Given the description of an element on the screen output the (x, y) to click on. 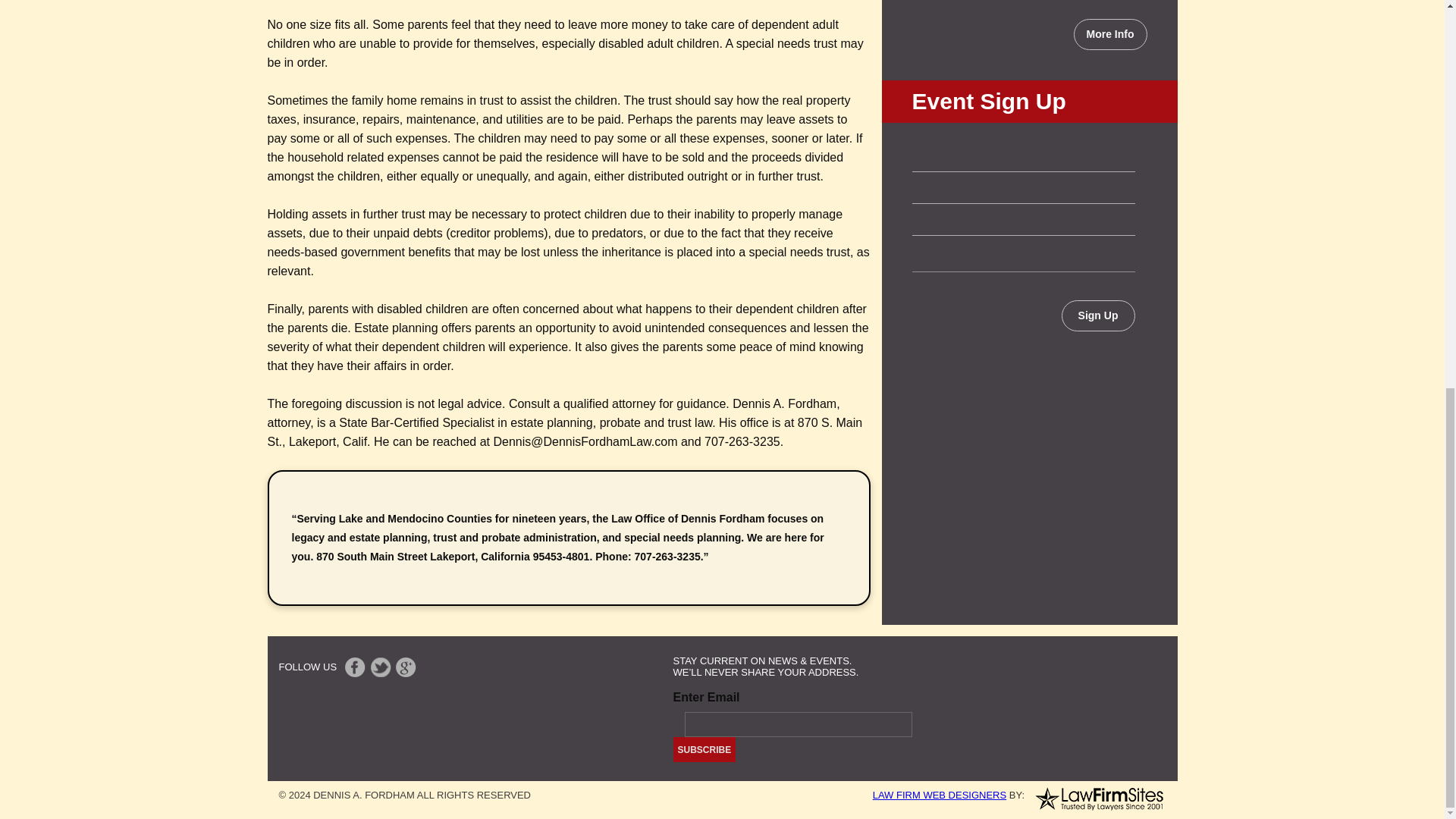
More Info (1110, 33)
Subscribe (704, 749)
Subscribe (704, 749)
twitter (381, 667)
Sign Up (1098, 315)
LAW FIRM WEB DESIGNERS (939, 794)
Law Firm Sites (1098, 798)
Law Firm Web Designers (939, 794)
facebook (355, 667)
Sign Up (1098, 315)
